Given the description of an element on the screen output the (x, y) to click on. 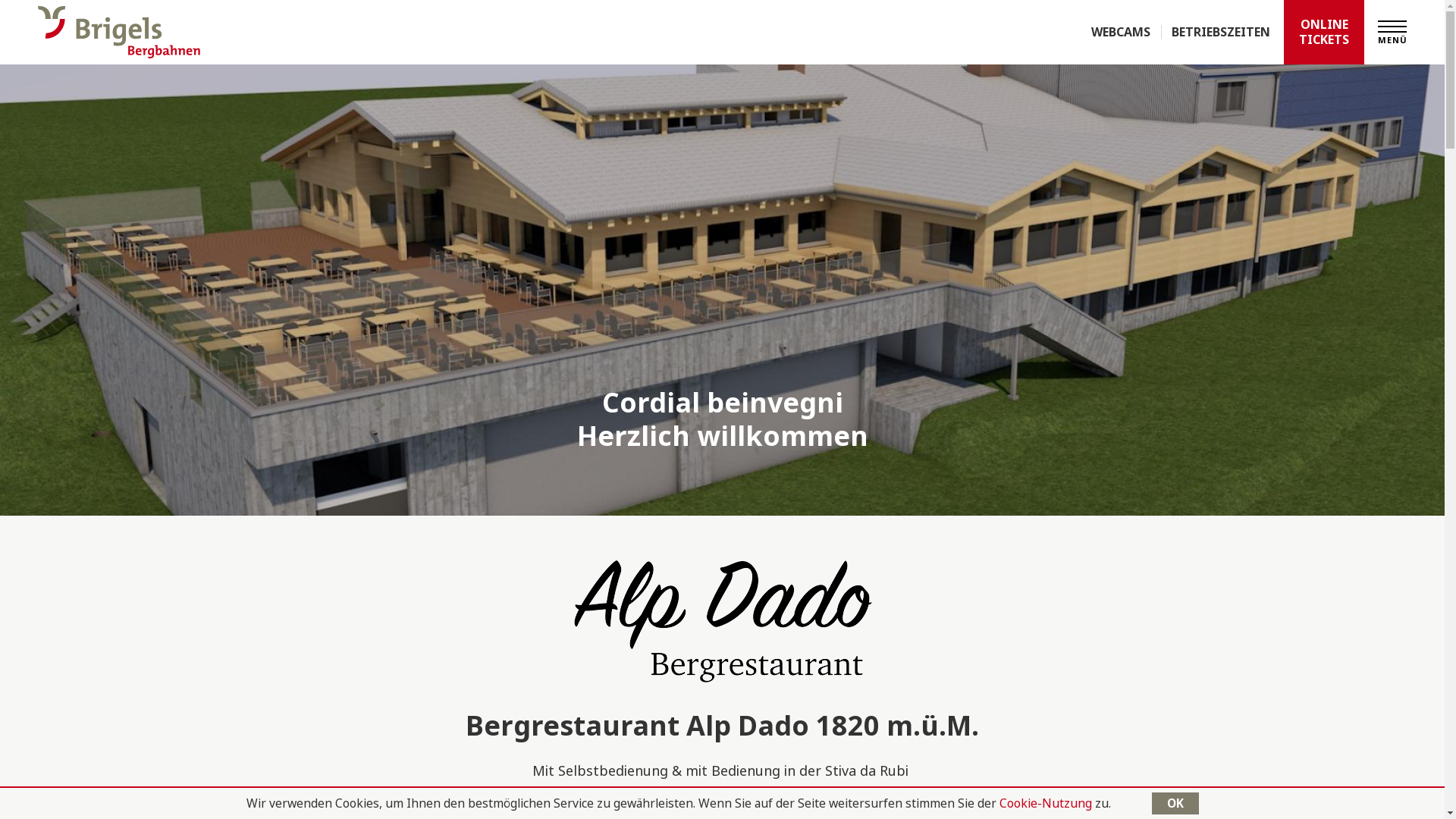
OK Element type: text (1174, 803)
BETRIEBSZEITEN Element type: text (1215, 32)
Cookie-Nutzung Element type: text (1045, 802)
WEBCAMS Element type: text (1120, 32)
ONLINE TICKETS Element type: text (1323, 32)
